Given the description of an element on the screen output the (x, y) to click on. 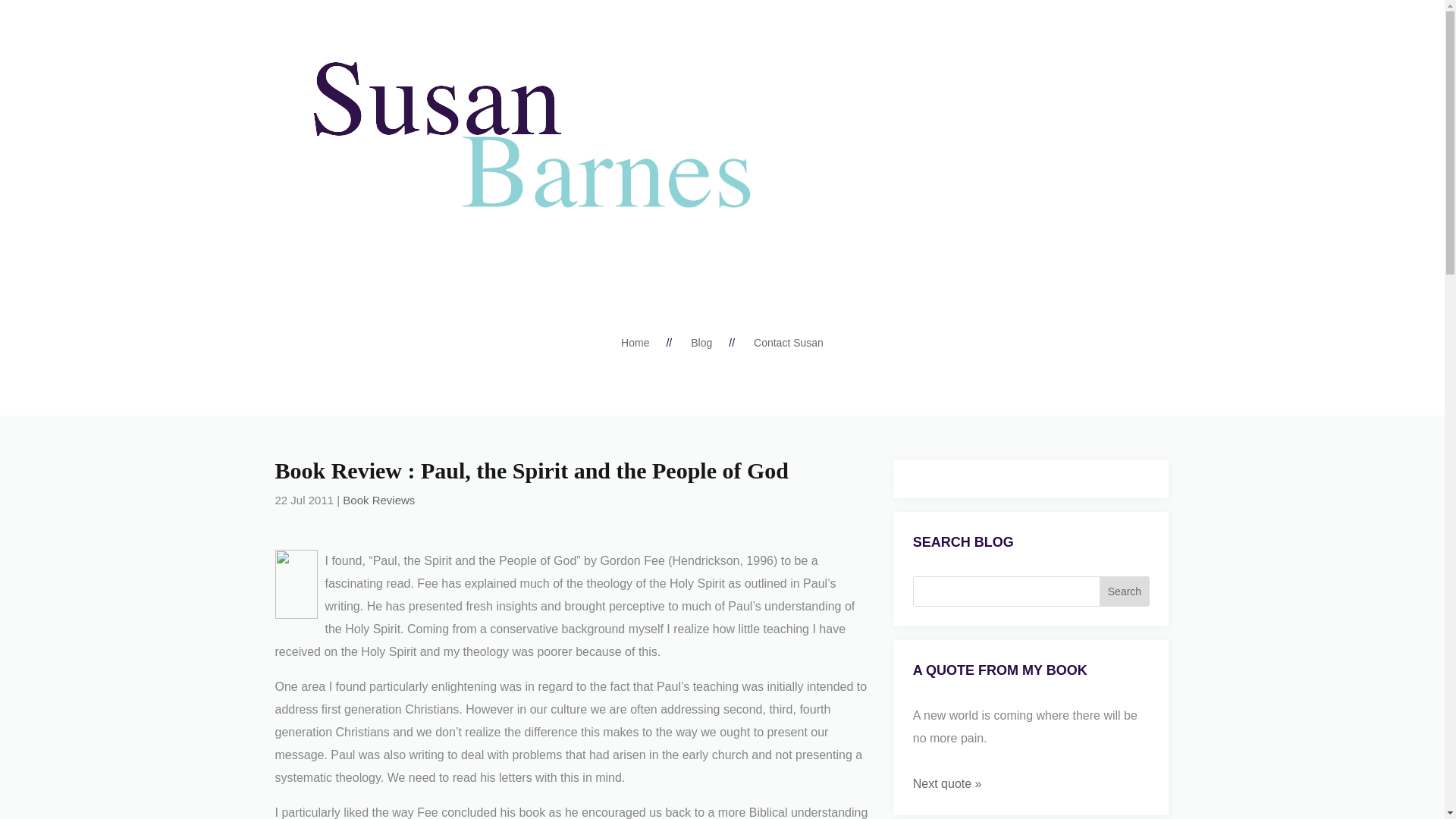
Contact Susan (789, 345)
Blog (700, 345)
Search (1124, 591)
Book Reviews (378, 499)
Home (635, 345)
Search (1124, 591)
